Given the description of an element on the screen output the (x, y) to click on. 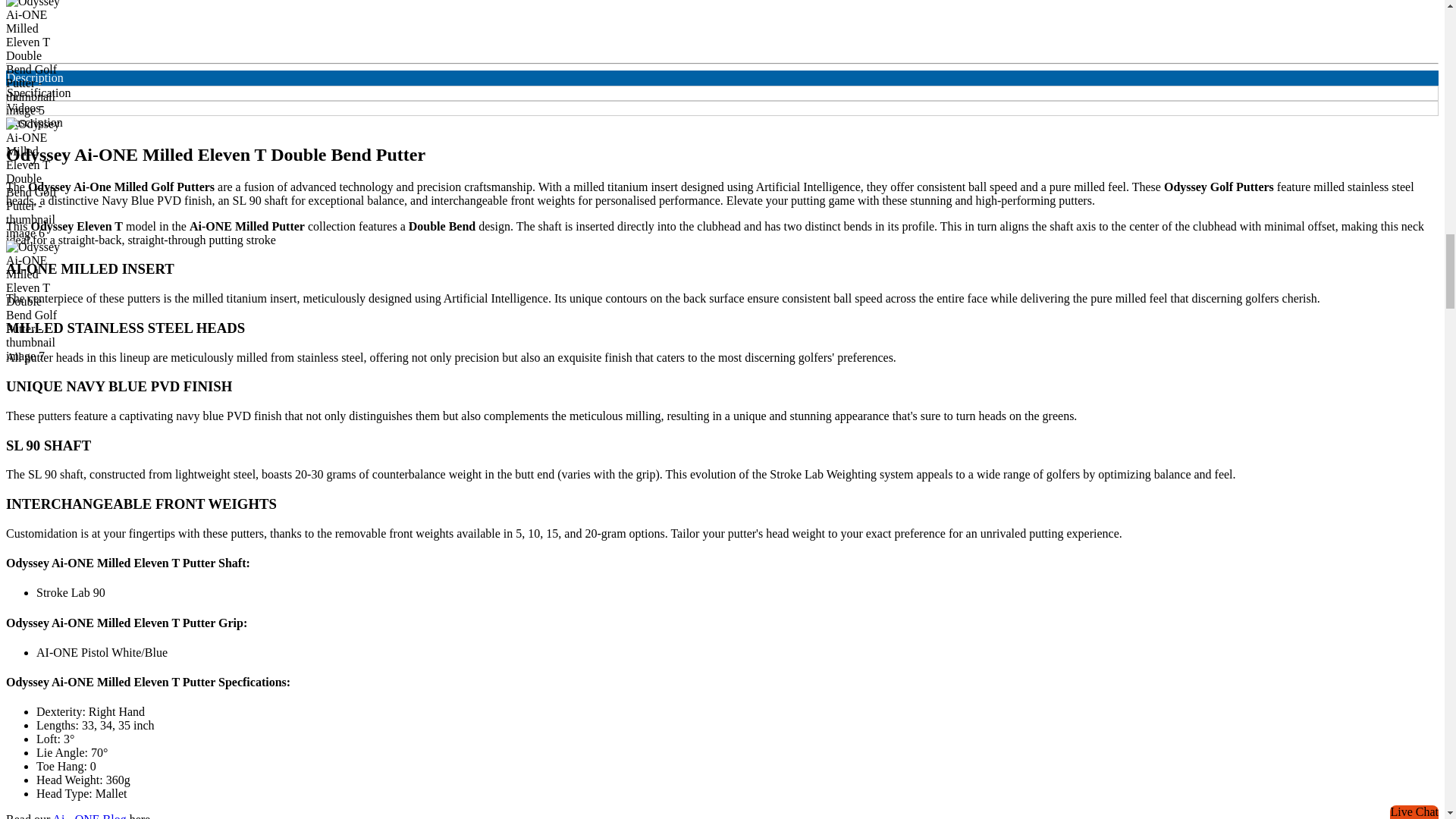
Odyssey Ai - ONE Putter Blog (88, 816)
Video (199, 27)
